Given the description of an element on the screen output the (x, y) to click on. 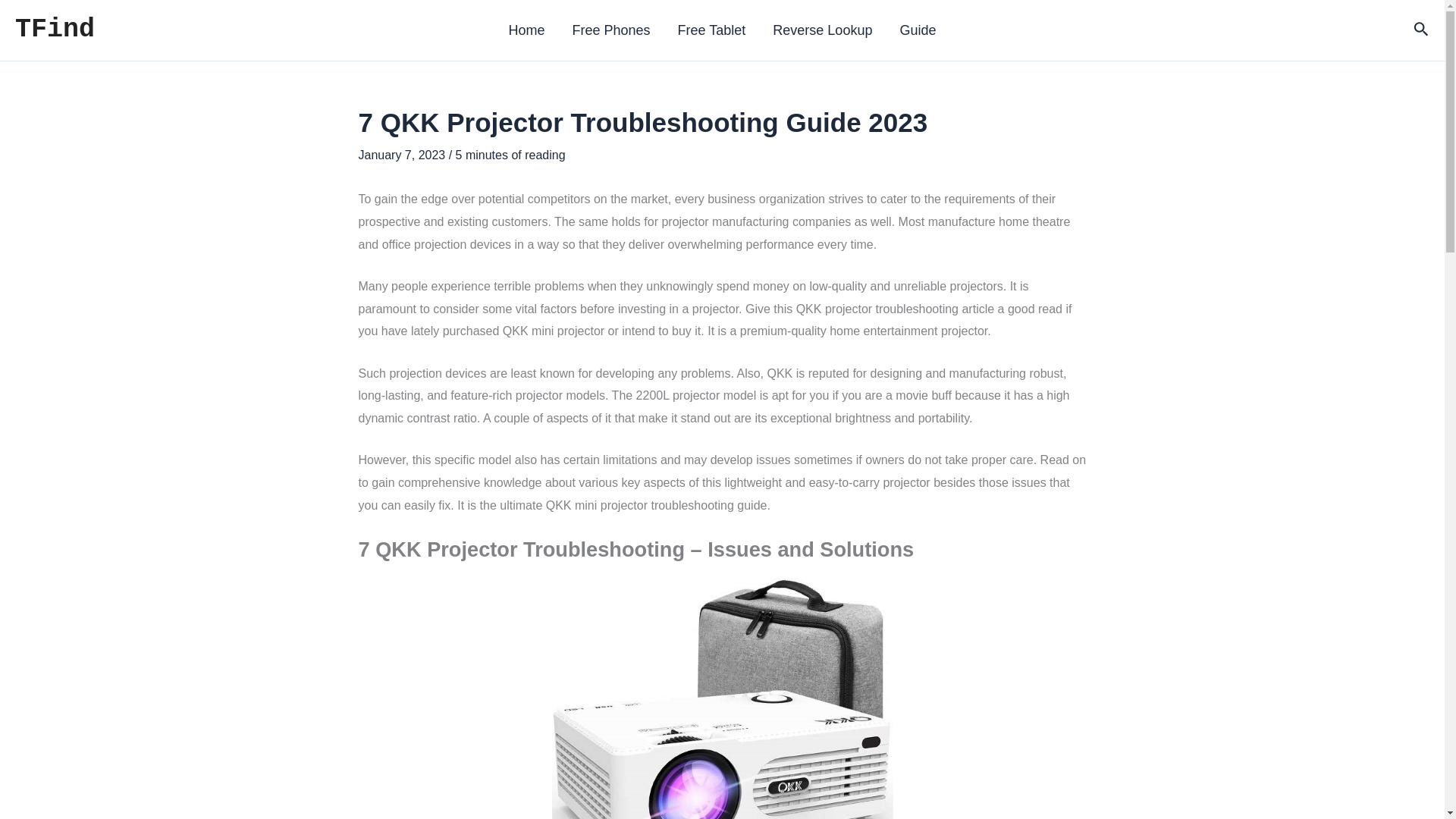
Home (527, 30)
TFind (54, 29)
Free Tablet (711, 30)
Free Phones (611, 30)
QKK Projector Troubleshooting (722, 698)
Guide (917, 30)
Reverse Lookup (821, 30)
